Given the description of an element on the screen output the (x, y) to click on. 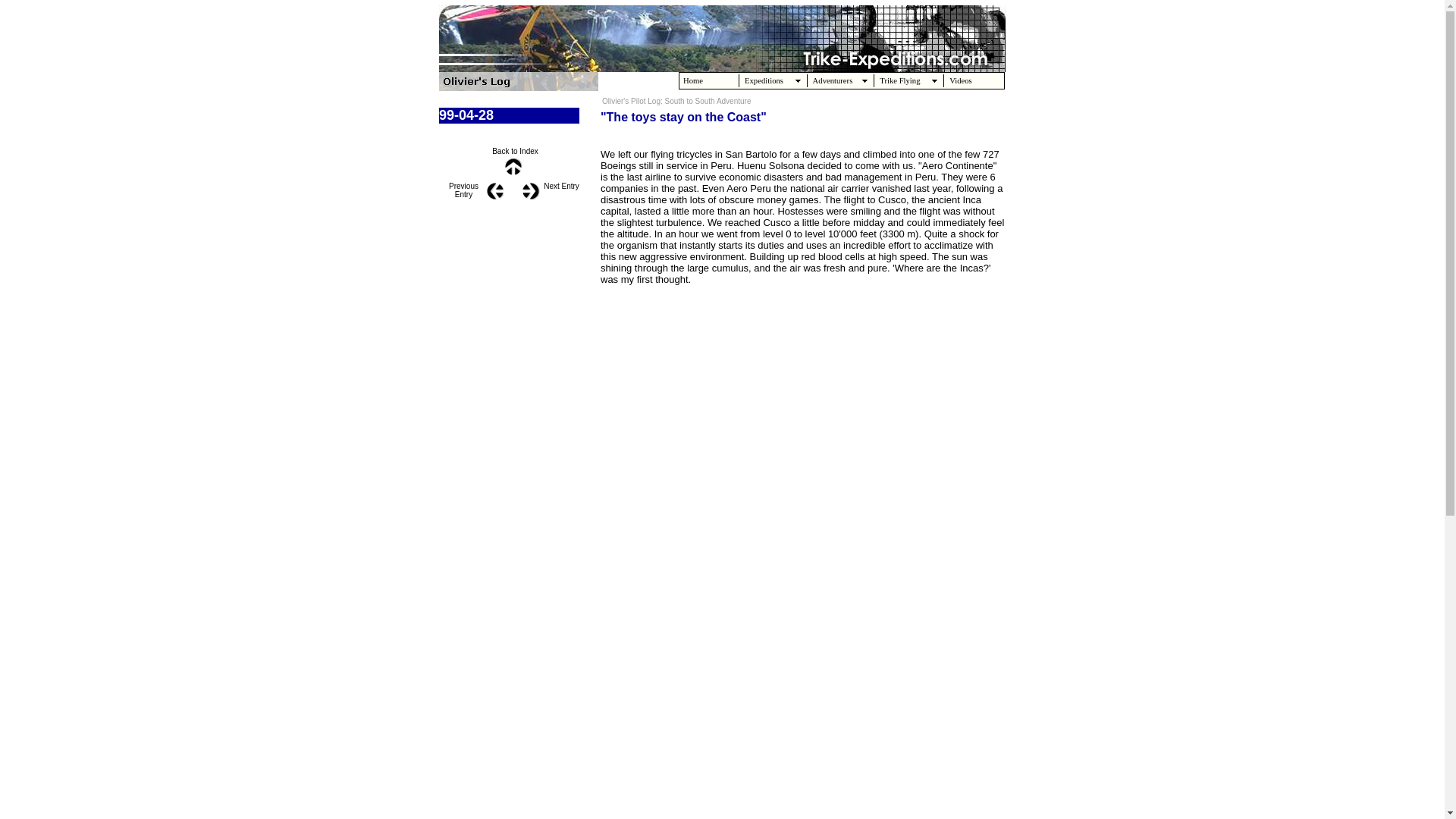
Home                (708, 80)
Videos               (975, 80)
Expeditions     (772, 80)
Adventurers    (840, 80)
Trike Flying     (908, 80)
